Given the description of an element on the screen output the (x, y) to click on. 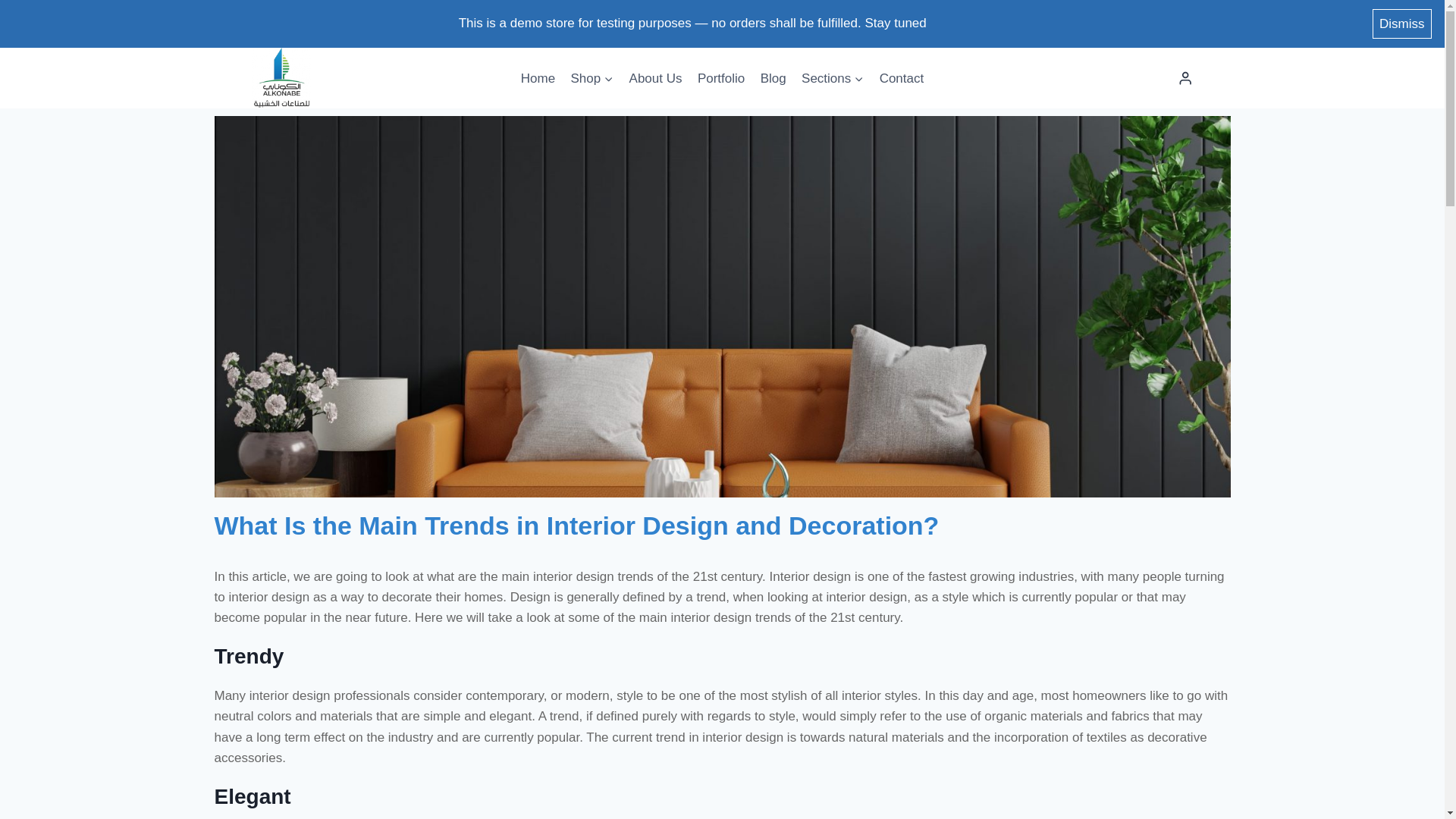
Home (538, 77)
Contact (900, 77)
About Us (654, 77)
Sections (832, 77)
Blog (772, 77)
Portfolio (721, 77)
Dismiss (1402, 23)
Shop (591, 77)
